Given the description of an element on the screen output the (x, y) to click on. 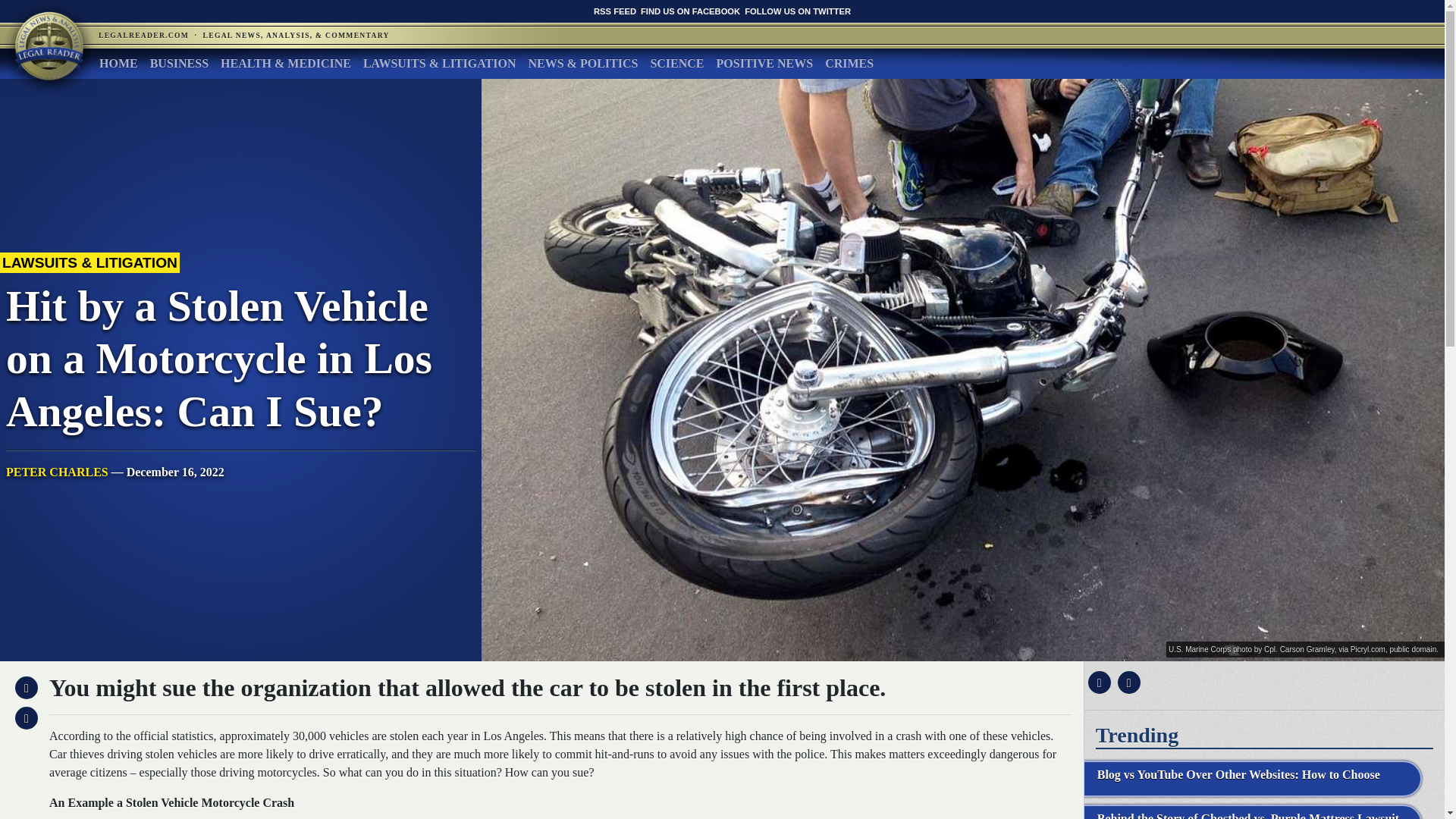
BUSINESS (179, 63)
Find Legal Reader on Facebook (689, 10)
CRIMES (848, 63)
Share on facebook (1097, 682)
FOLLOW US ON TWITTER (797, 10)
SCIENCE (676, 63)
POSITIVE NEWS (764, 63)
Home (118, 63)
Legal Reader News Feed (615, 10)
Crimes (848, 63)
